Given the description of an element on the screen output the (x, y) to click on. 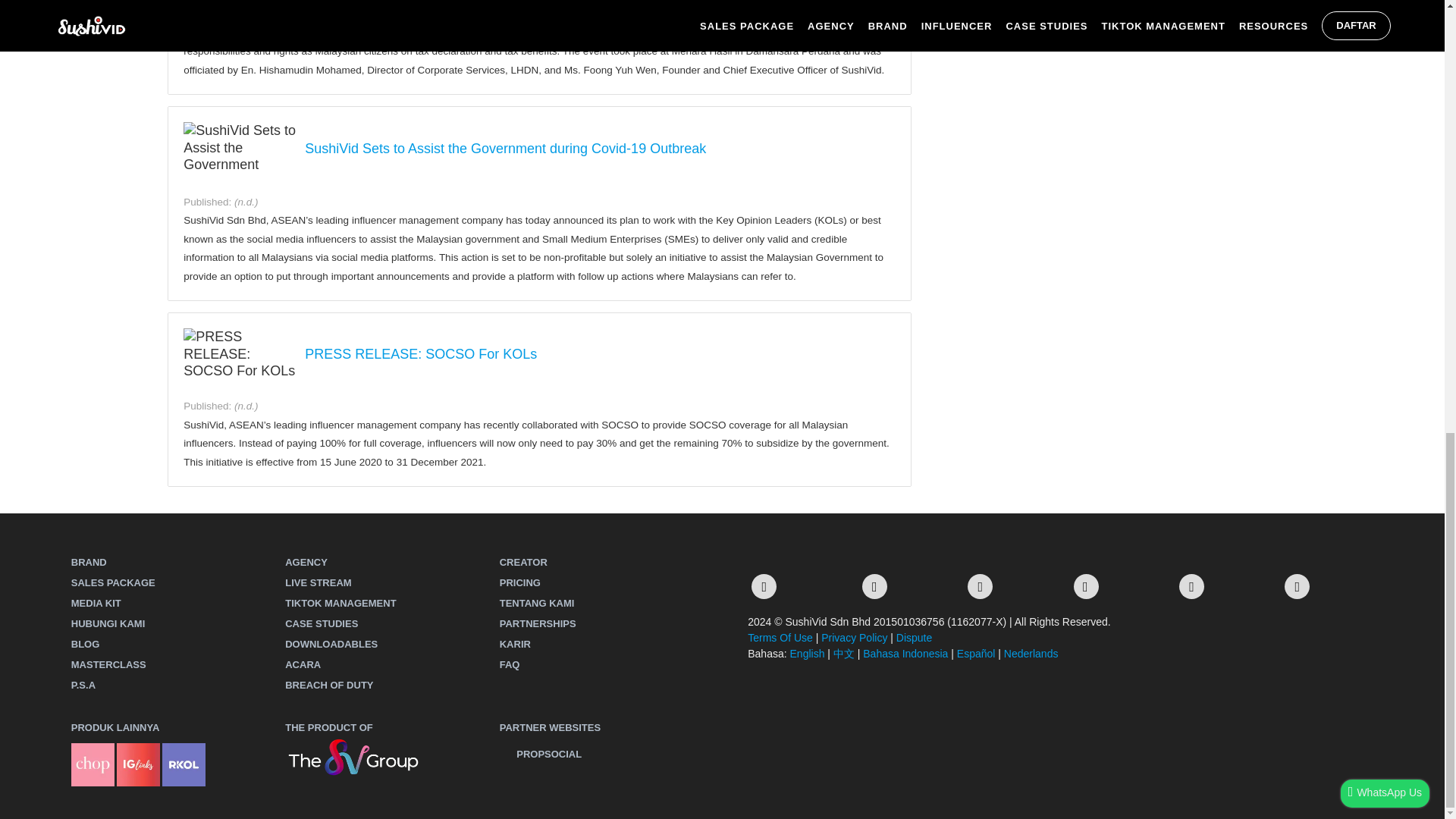
AGENCY (306, 562)
PRESS RELEASE: SOCSO For KOLs (420, 354)
CREATOR (523, 562)
LIVE STREAM (317, 582)
BRAND (88, 562)
SALES PACKAGE (113, 582)
